Given the description of an element on the screen output the (x, y) to click on. 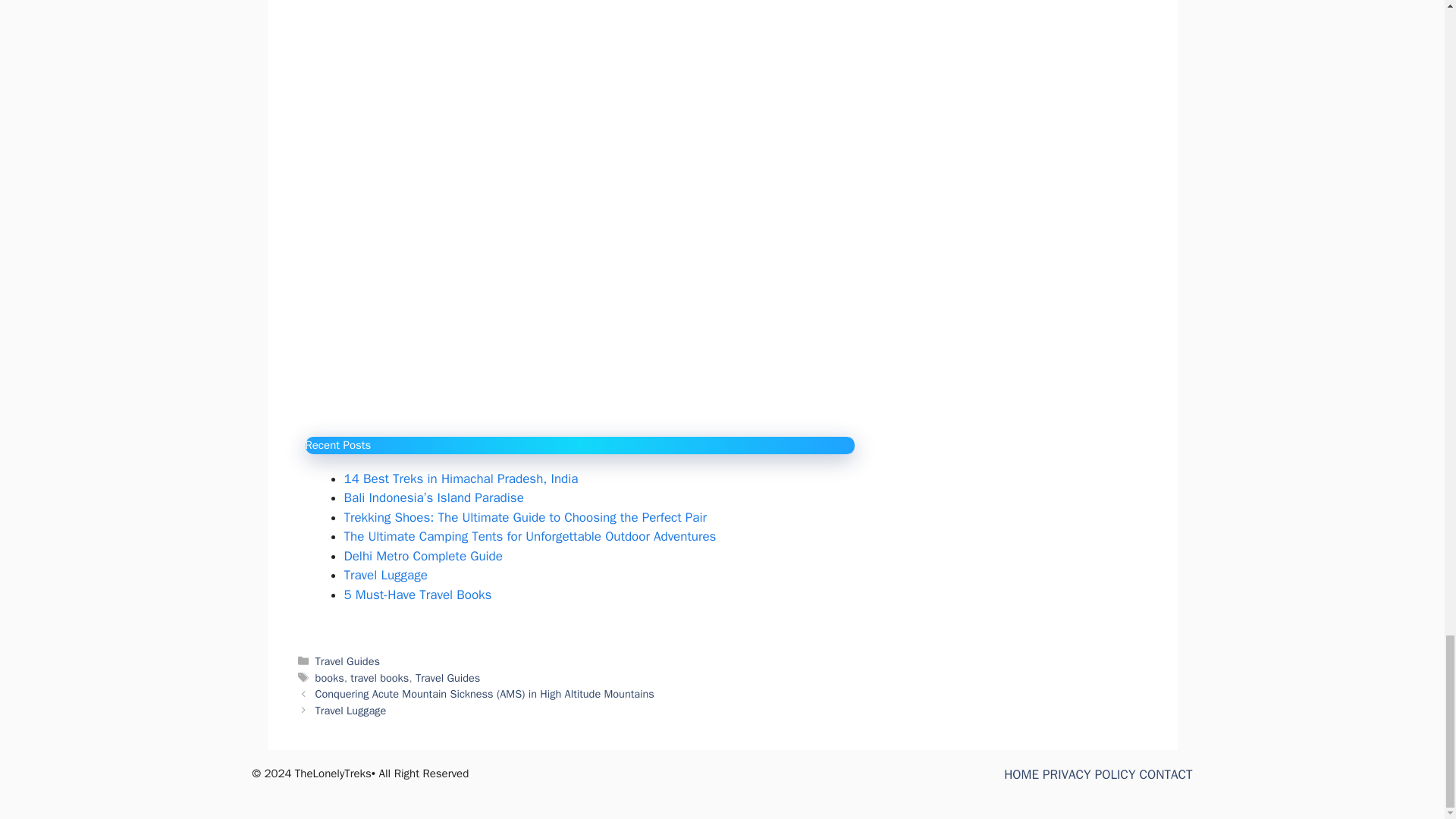
14 Best Treks in Himachal Pradesh, India (460, 478)
